Given the description of an element on the screen output the (x, y) to click on. 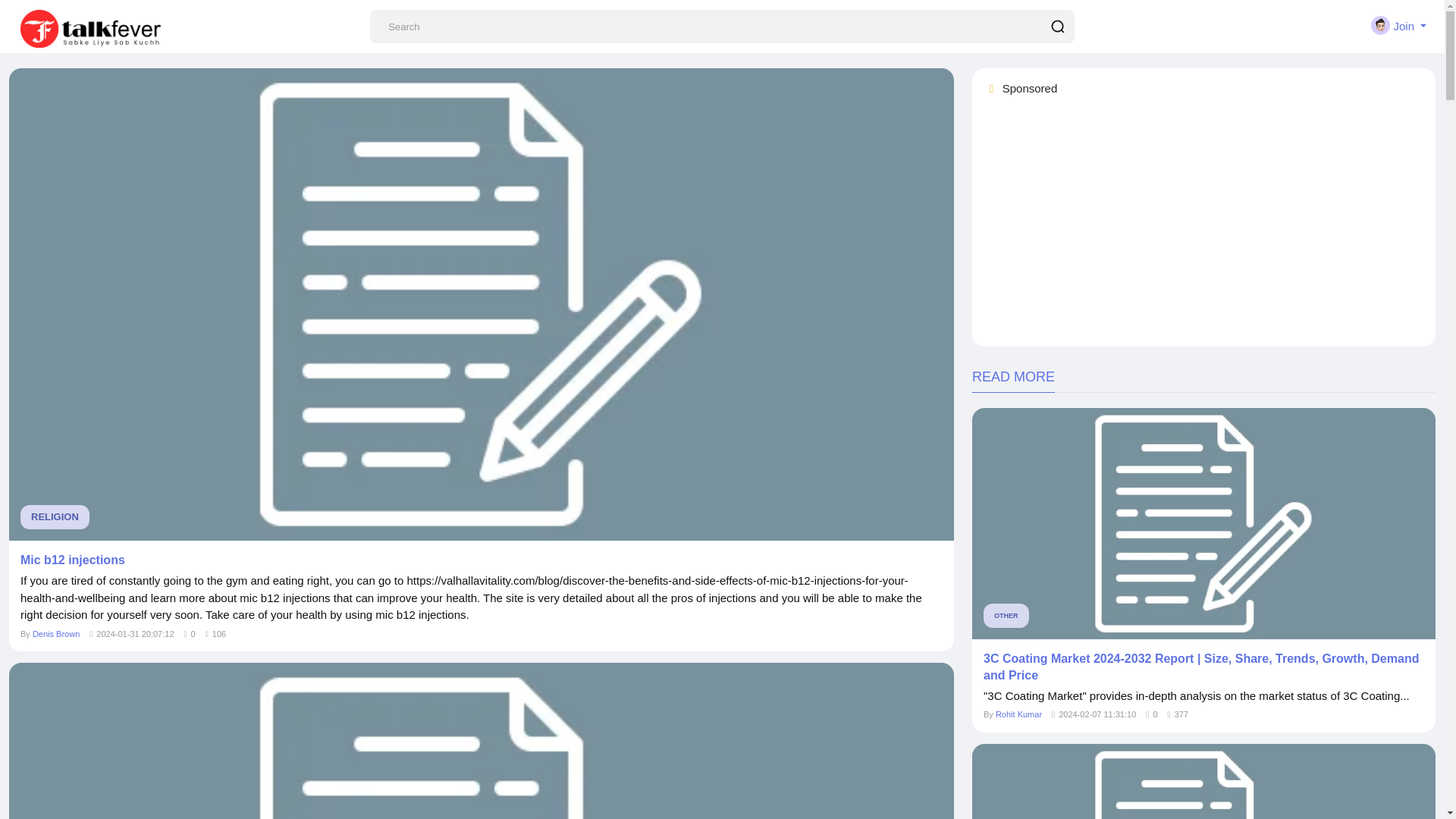
Join (1398, 26)
Mic b12 injections (481, 560)
Talkfever (90, 28)
Denis Brown (56, 633)
RELIGION (54, 517)
